Given the description of an element on the screen output the (x, y) to click on. 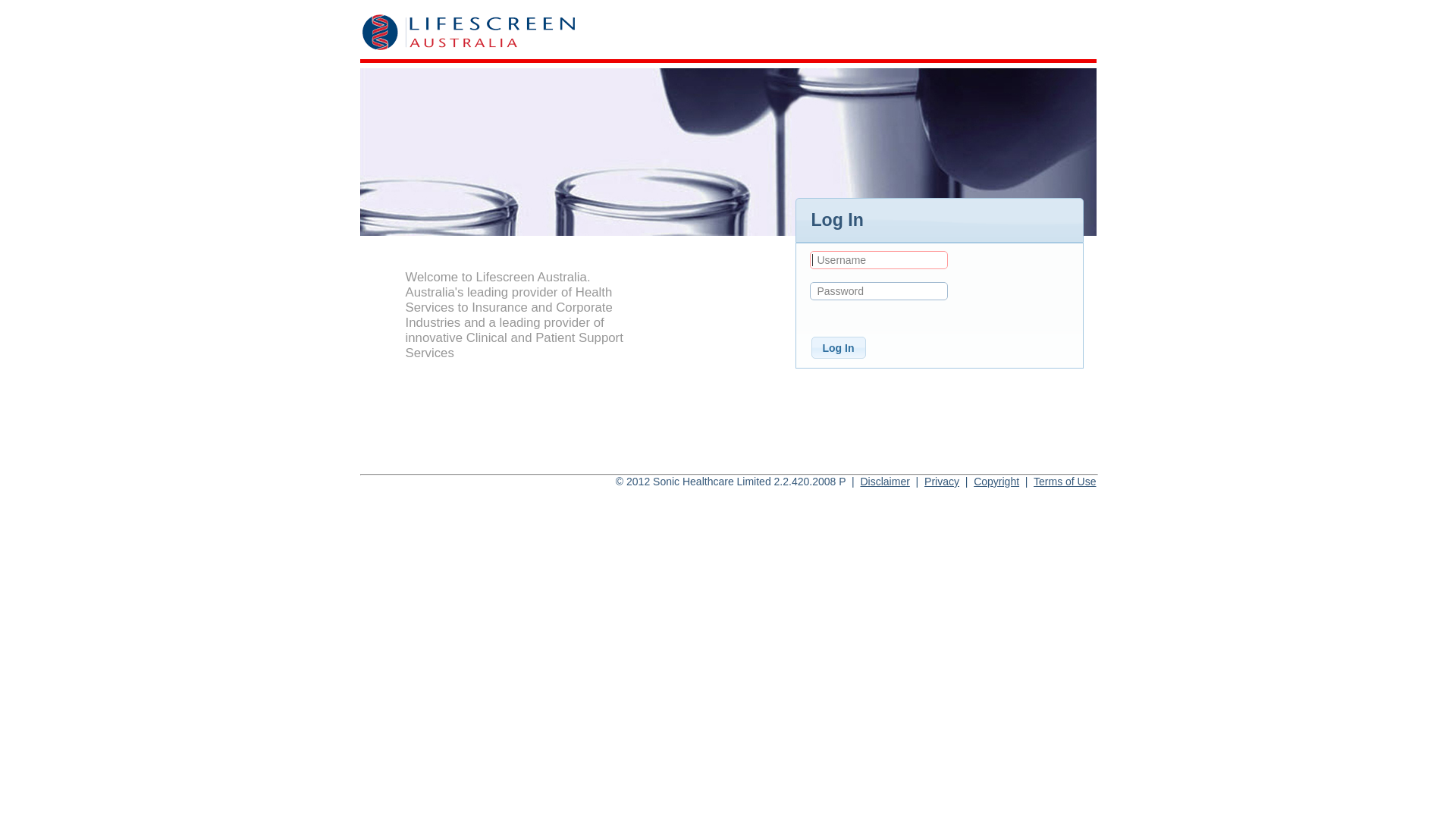
Terms of Use Element type: text (1064, 481)
Copyright Element type: text (996, 481)
Privacy Element type: text (941, 481)
Log In Element type: text (838, 347)
Disclaimer Element type: text (884, 481)
